Given the description of an element on the screen output the (x, y) to click on. 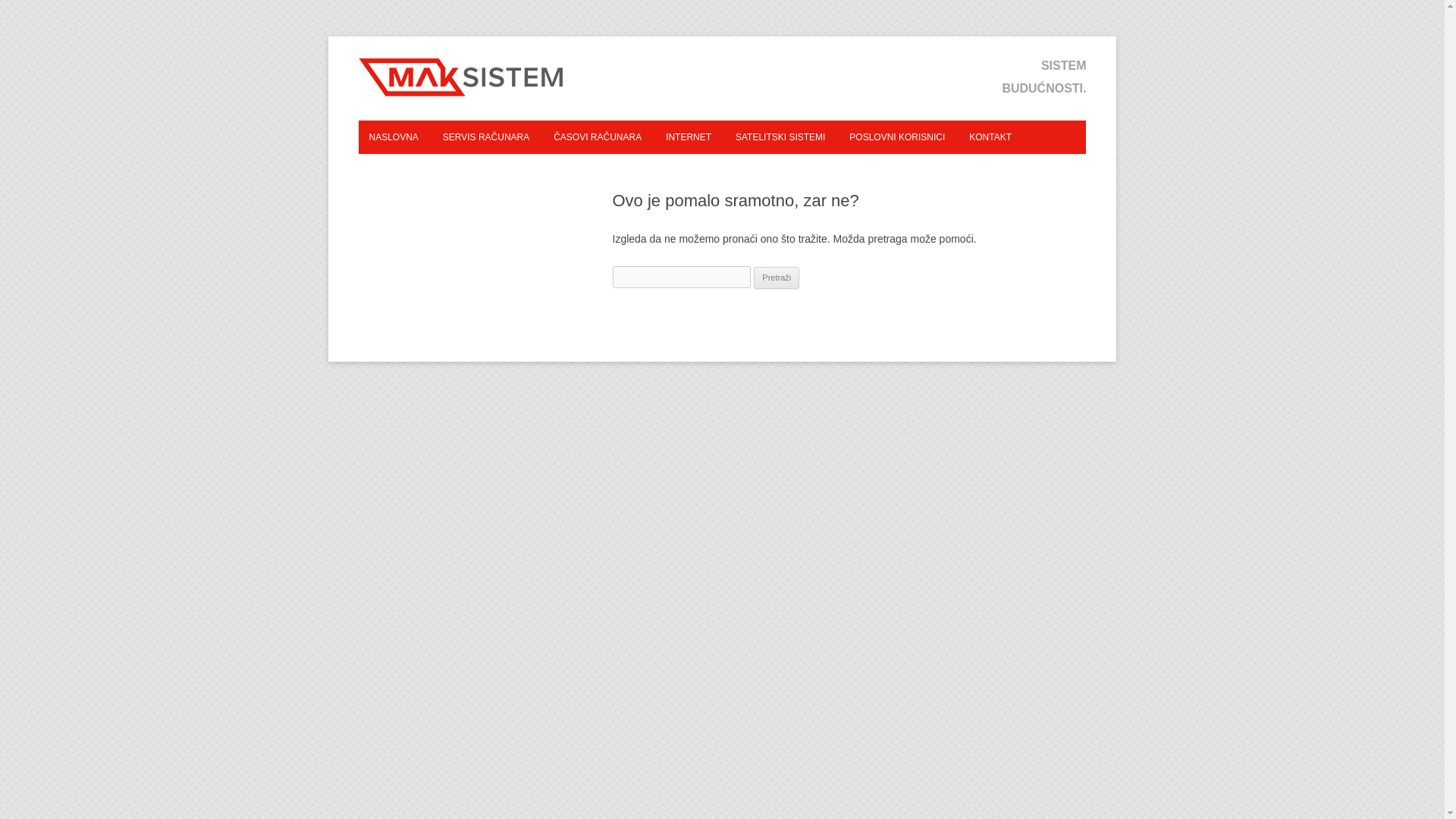
SATELITSKI SISTEMI (780, 136)
MS WINDOWS (618, 169)
MAK SISTEM (468, 76)
INSTALACIJA ORION INTERNETA (730, 169)
MAK SISTEM (468, 96)
TOTAL TV (800, 169)
NASLOVNA (392, 136)
POSLOVNI KORISNICI (896, 136)
INSTALACIJA SISTEMA (507, 169)
INTERNET (688, 136)
